Given the description of an element on the screen output the (x, y) to click on. 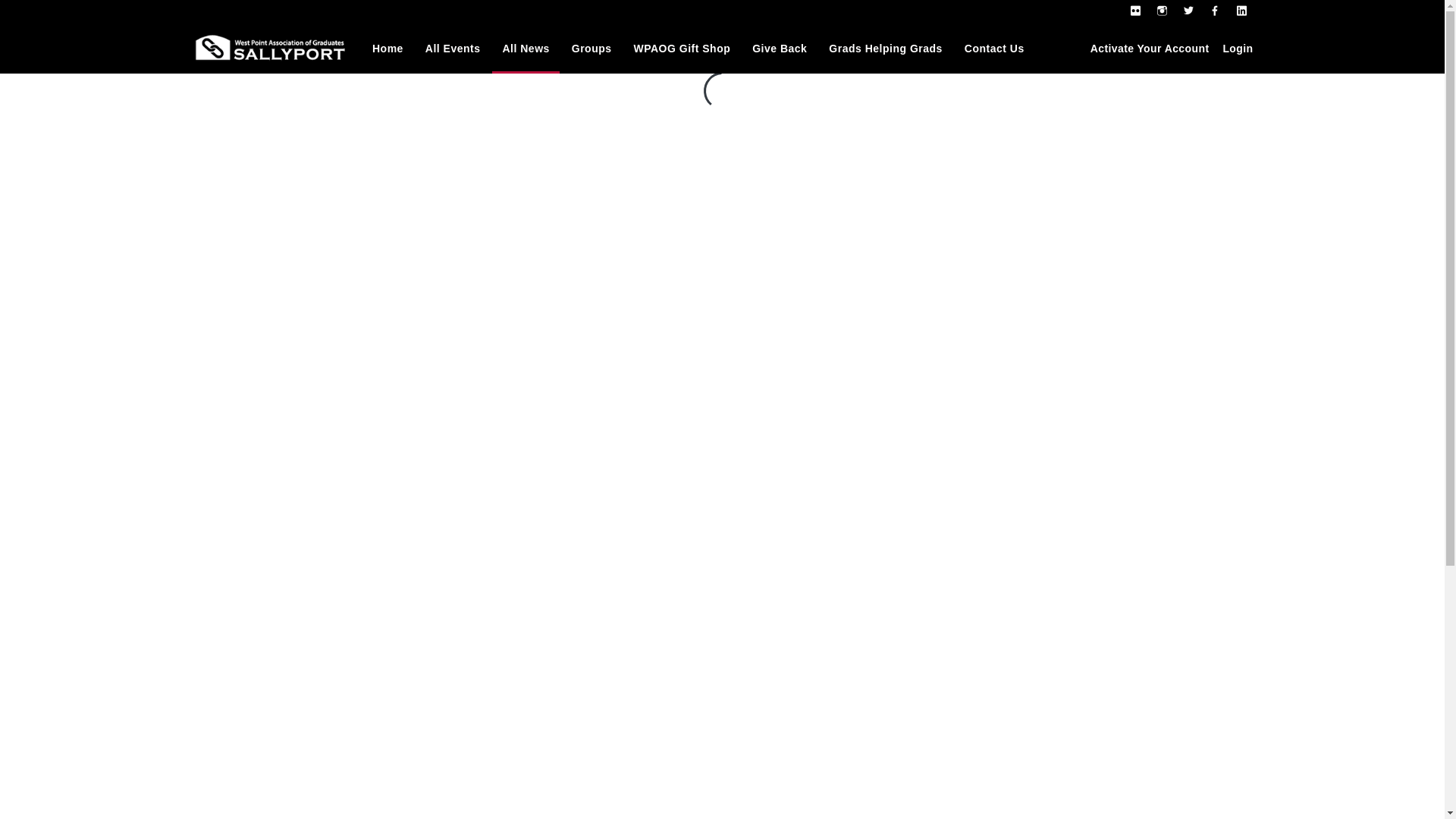
Login (1237, 48)
Home (387, 48)
Give Back (779, 48)
Go to instagram page (1161, 11)
Go to linkedin page (1241, 11)
All Events (452, 48)
WPAOG Gift Shop (681, 48)
Go to facebook page (1215, 11)
Activate Your Account (1149, 48)
Go to flickr page (1135, 11)
All News (525, 48)
Groups (591, 48)
Go to twitter page (1187, 11)
Grads Helping Grads (885, 48)
Contact Us (994, 48)
